Given the description of an element on the screen output the (x, y) to click on. 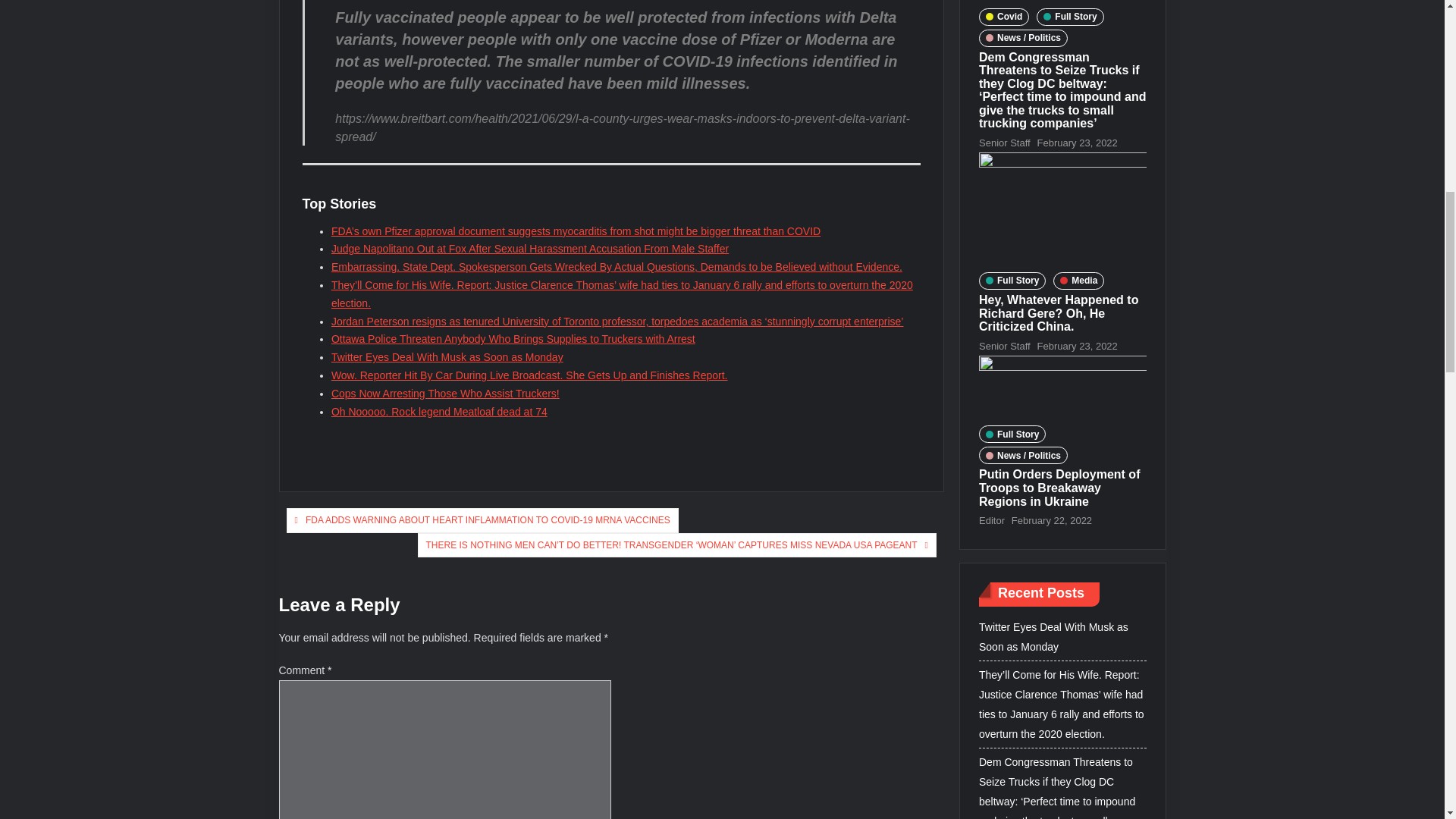
Twitter Eyes Deal With Musk as Soon as Monday (447, 357)
